Given the description of an element on the screen output the (x, y) to click on. 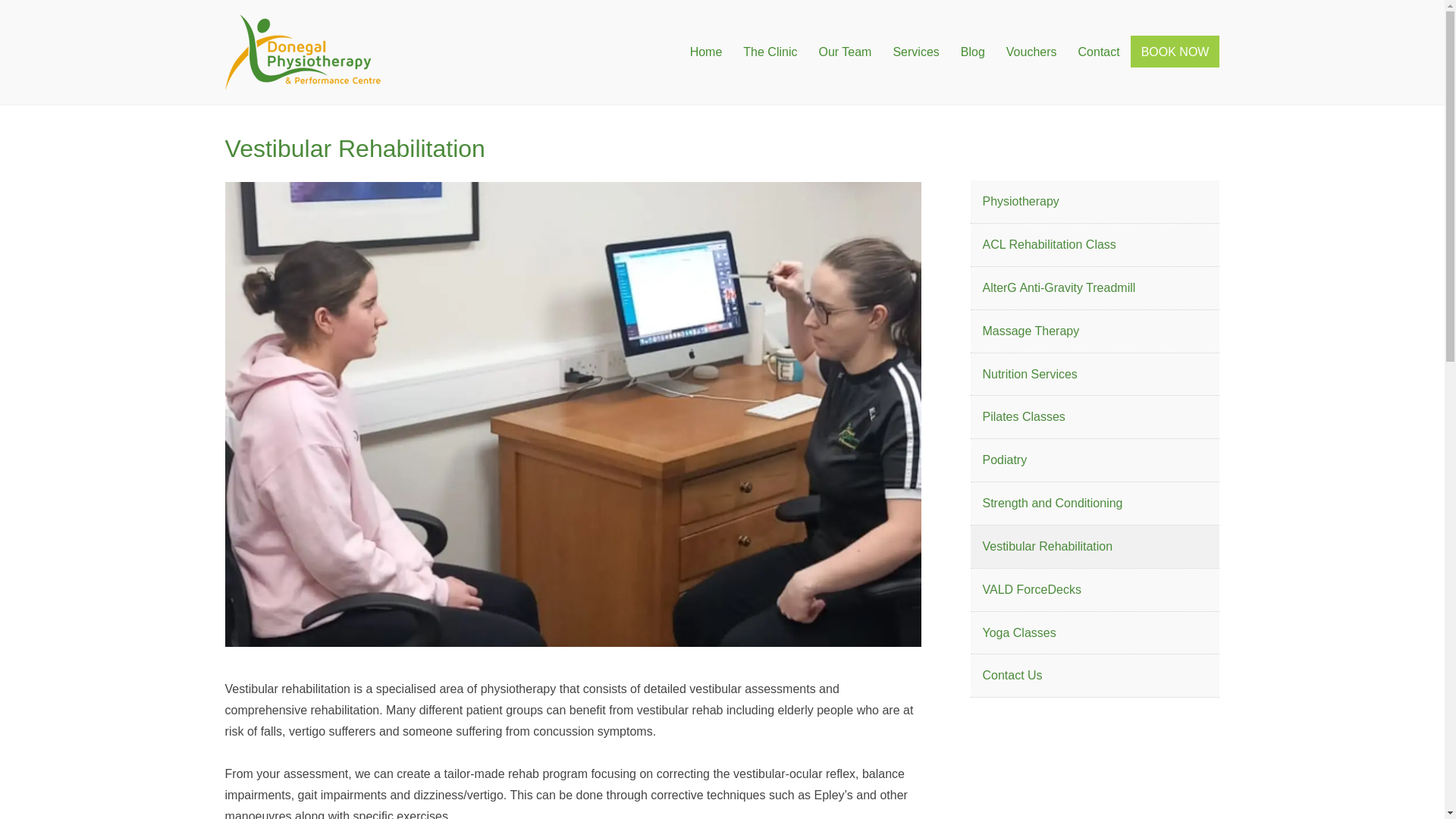
Podiatry (1095, 459)
VALD ForceDecks (1095, 589)
Blog (972, 51)
Contact (1099, 51)
Home (706, 51)
Vouchers (1031, 51)
BOOK NOW (1175, 51)
AlterG Anti-Gravity Treadmill (1095, 287)
Massage Therapy (1095, 331)
Services (915, 51)
